Given the description of an element on the screen output the (x, y) to click on. 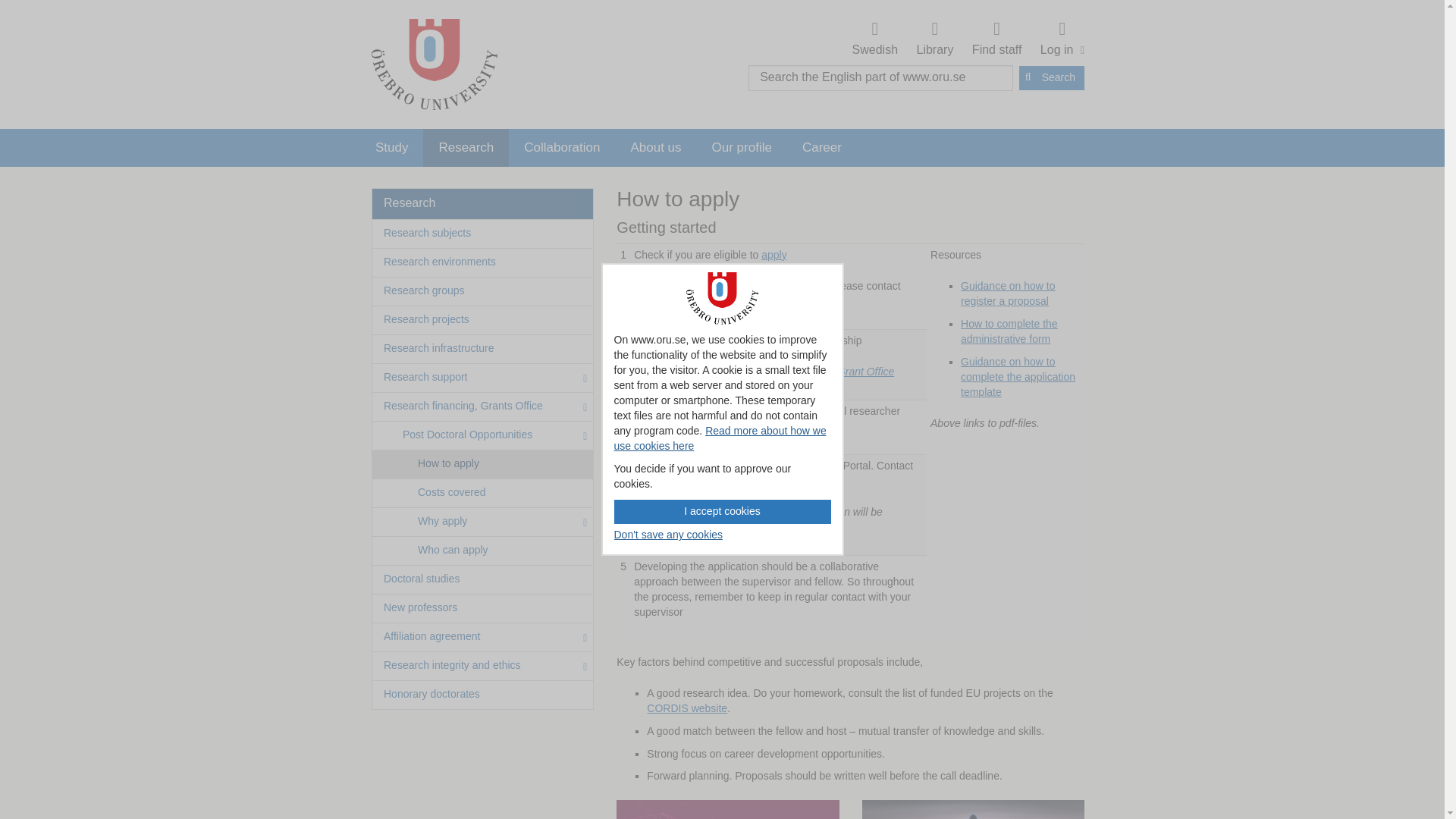
How to complete the application template for MSCA IF (1017, 377)
Are you eligible to apply (773, 254)
Don't save any cookies (668, 534)
Research (465, 147)
How to complete the administrative form (1009, 330)
I accept cookies (1060, 39)
How to register a MSCA proposal (722, 511)
Library (1007, 293)
Study (935, 39)
CORDIS website (391, 147)
I accept cookies (686, 708)
Don't save any cookies (722, 511)
Find staff (668, 534)
Search (997, 39)
